Given the description of an element on the screen output the (x, y) to click on. 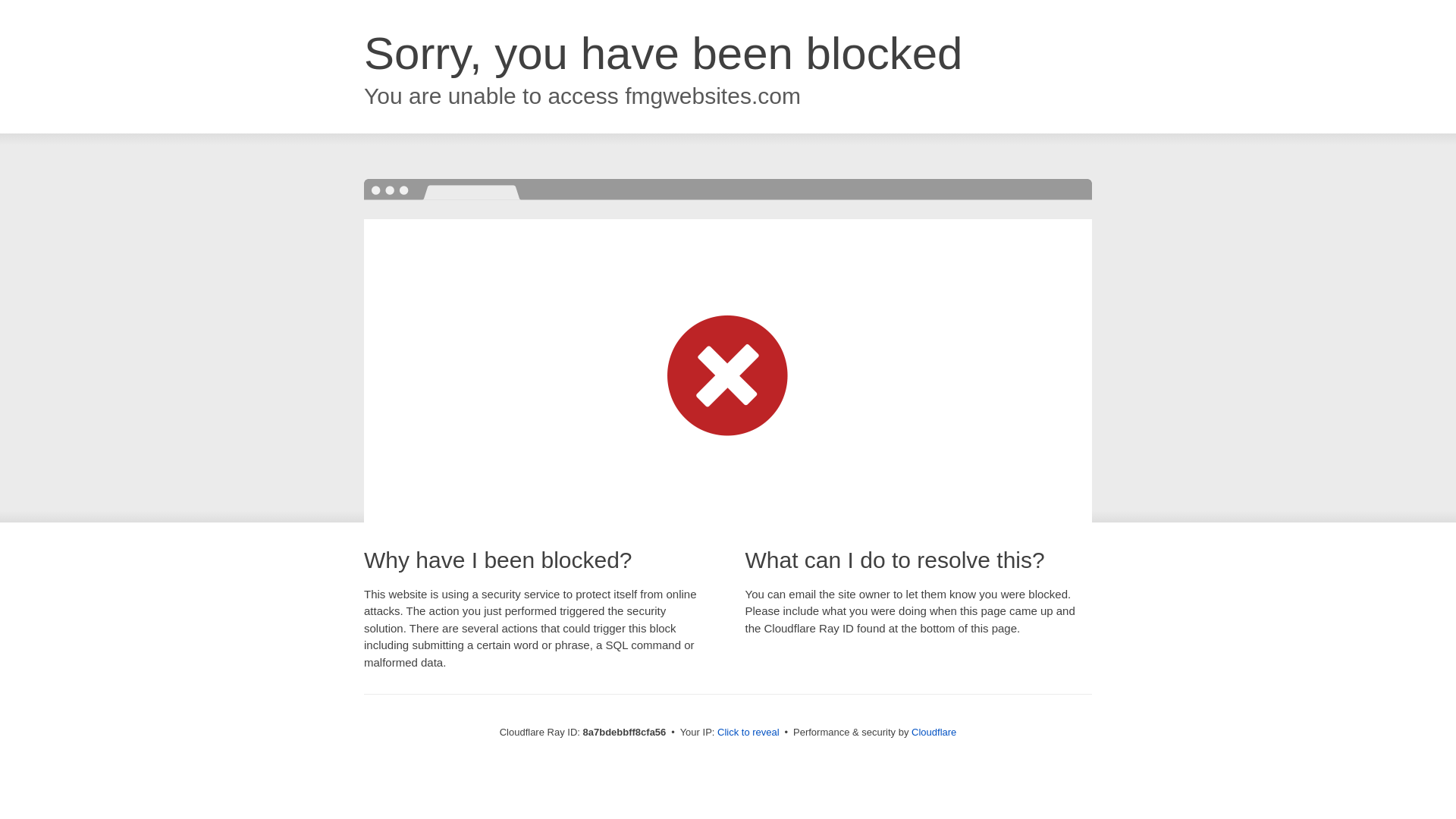
Cloudflare (933, 731)
Click to reveal (747, 732)
